Given the description of an element on the screen output the (x, y) to click on. 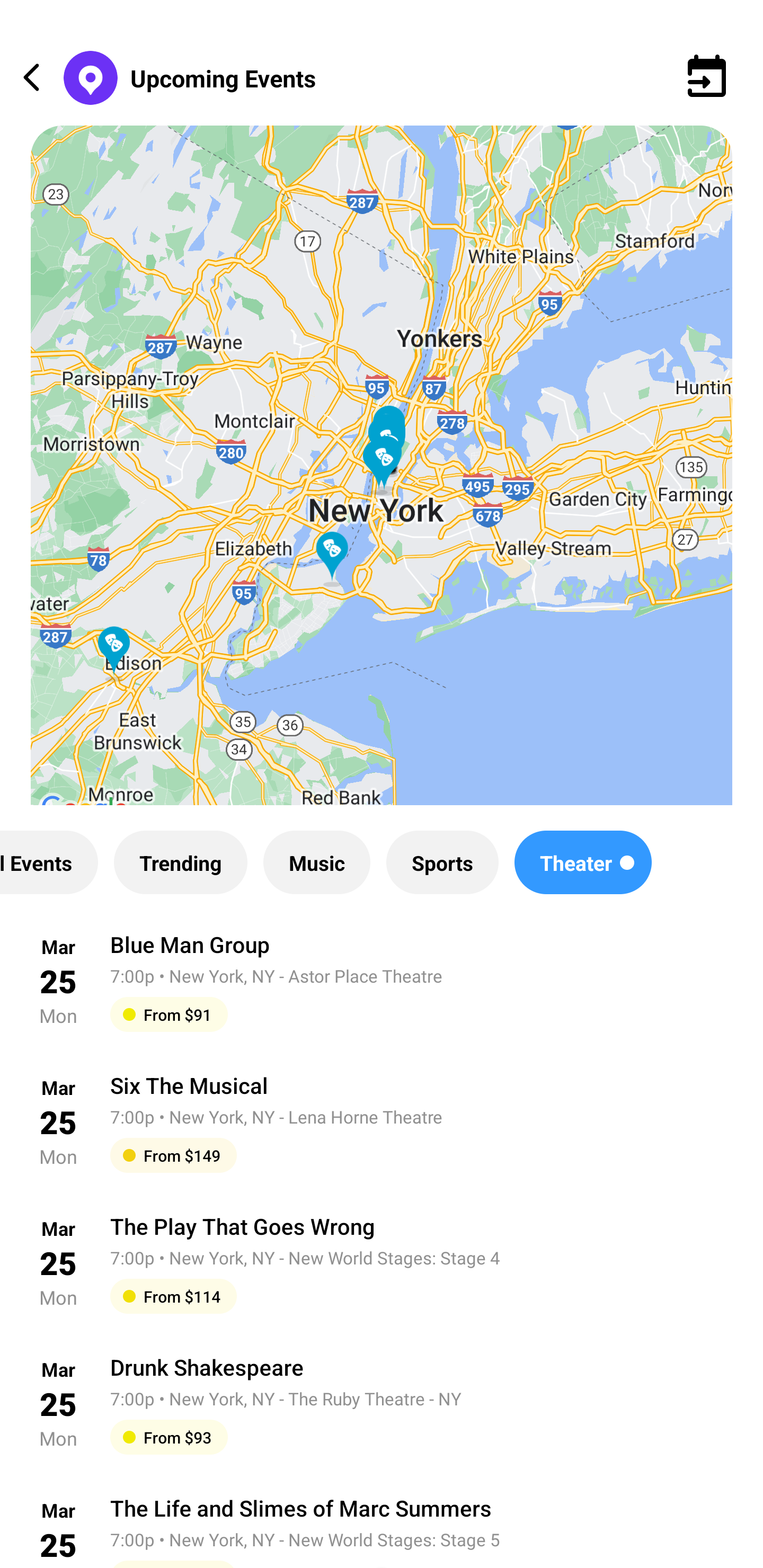
All Events (48, 862)
Trending (180, 862)
Music (316, 862)
Sports (442, 862)
Theater (582, 862)
